Given the description of an element on the screen output the (x, y) to click on. 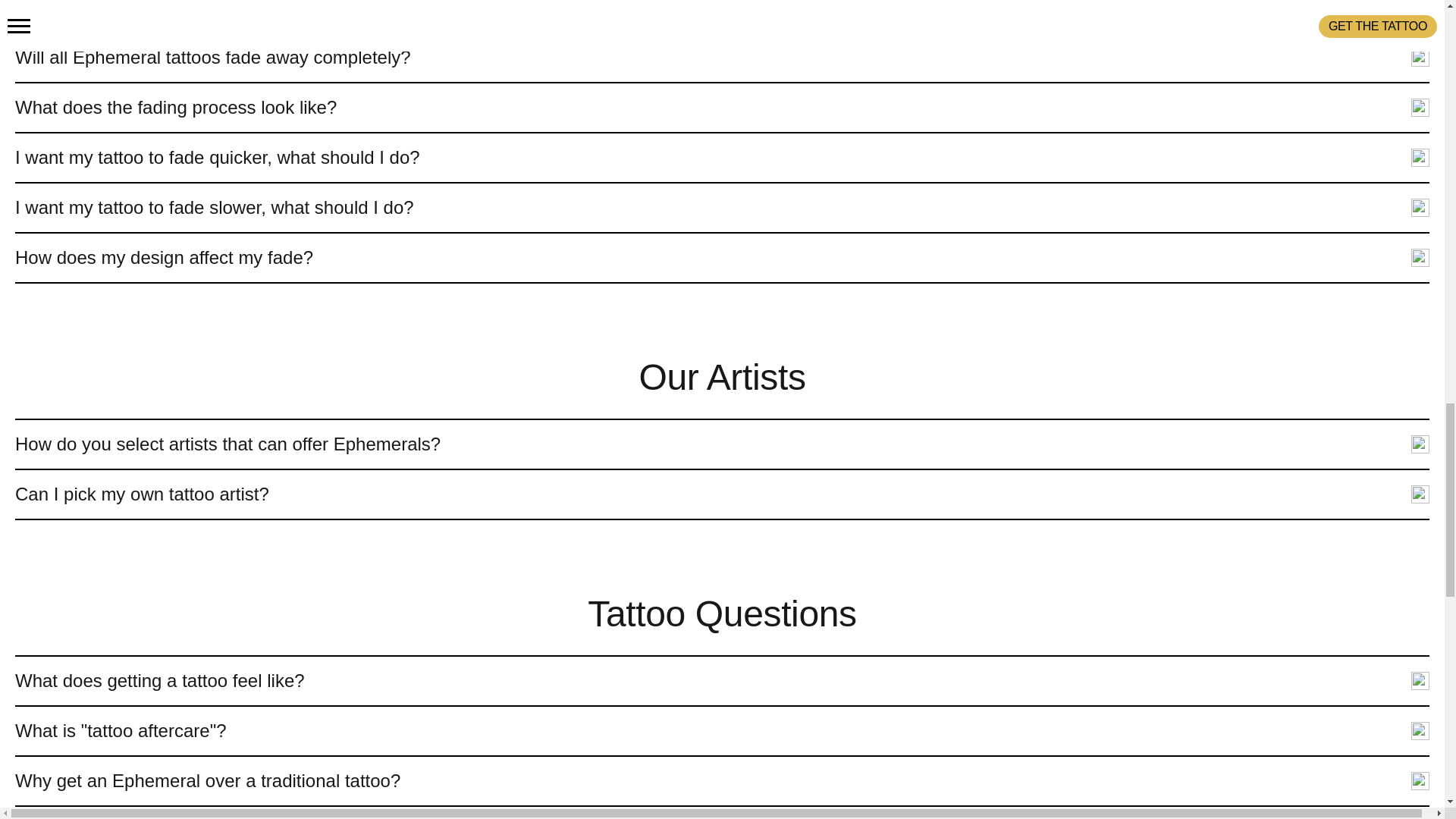
I want my tattoo to fade slower, what should I do? (721, 207)
What makes an Ephemeral tattoo fade? (721, 15)
Can I pick my own tattoo artist? (721, 494)
How does my design affect my fade? (721, 257)
What does getting a tattoo feel like? (721, 680)
How do you select artists that can offer Ephemerals? (721, 444)
What does the fading process look like? (721, 107)
Will all Ephemeral tattoos fade away completely? (721, 57)
I want my tattoo to fade quicker, what should I do? (721, 157)
